Given the description of an element on the screen output the (x, y) to click on. 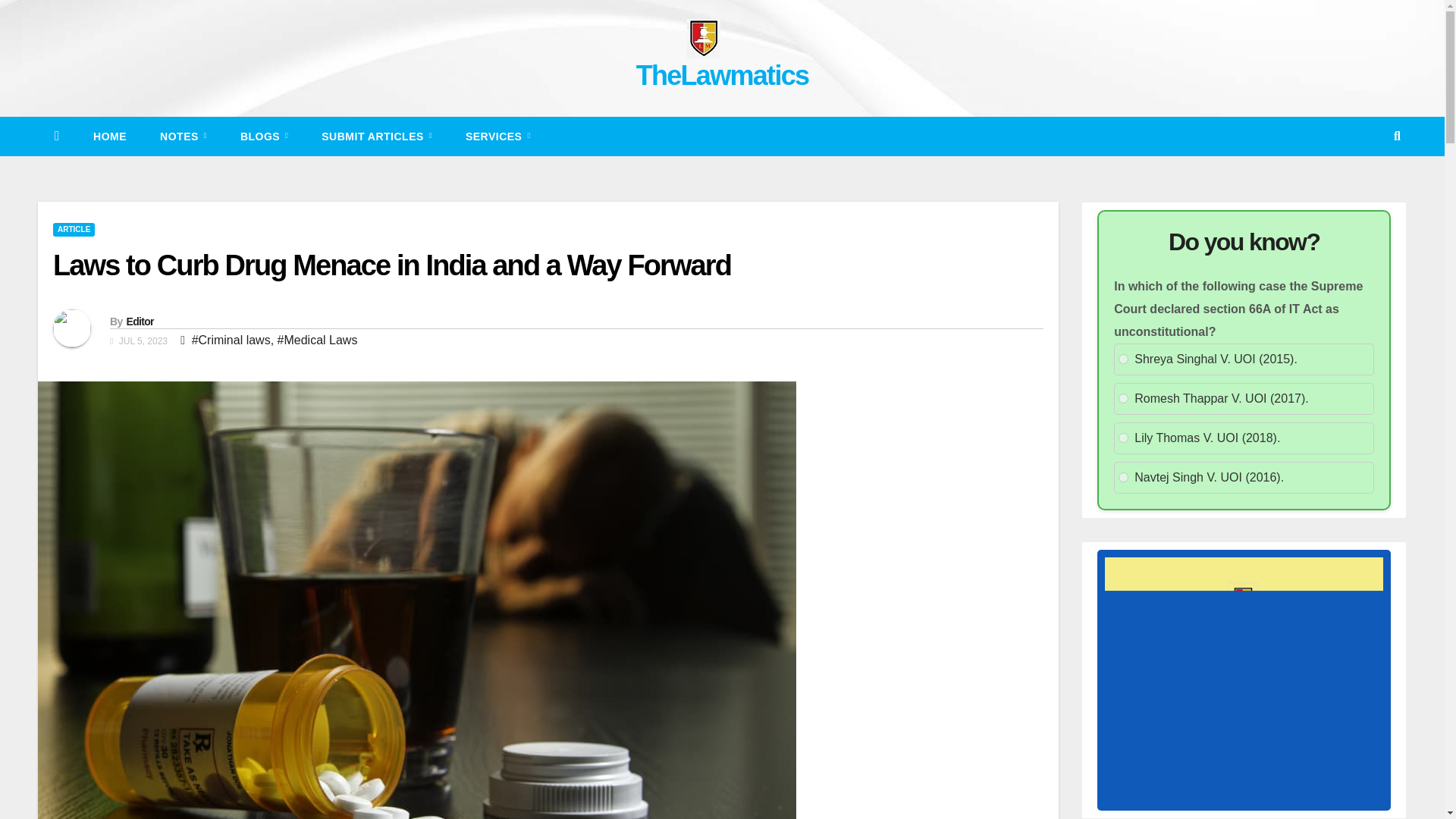
SERVICES (497, 136)
ARTICLE (73, 229)
Submit Articles (376, 136)
Home (109, 136)
TheLawmatics (722, 74)
2 (1123, 398)
NOTES (183, 136)
3 (1123, 438)
SUBMIT ARTICLES (376, 136)
4 (1123, 477)
